Given the description of an element on the screen output the (x, y) to click on. 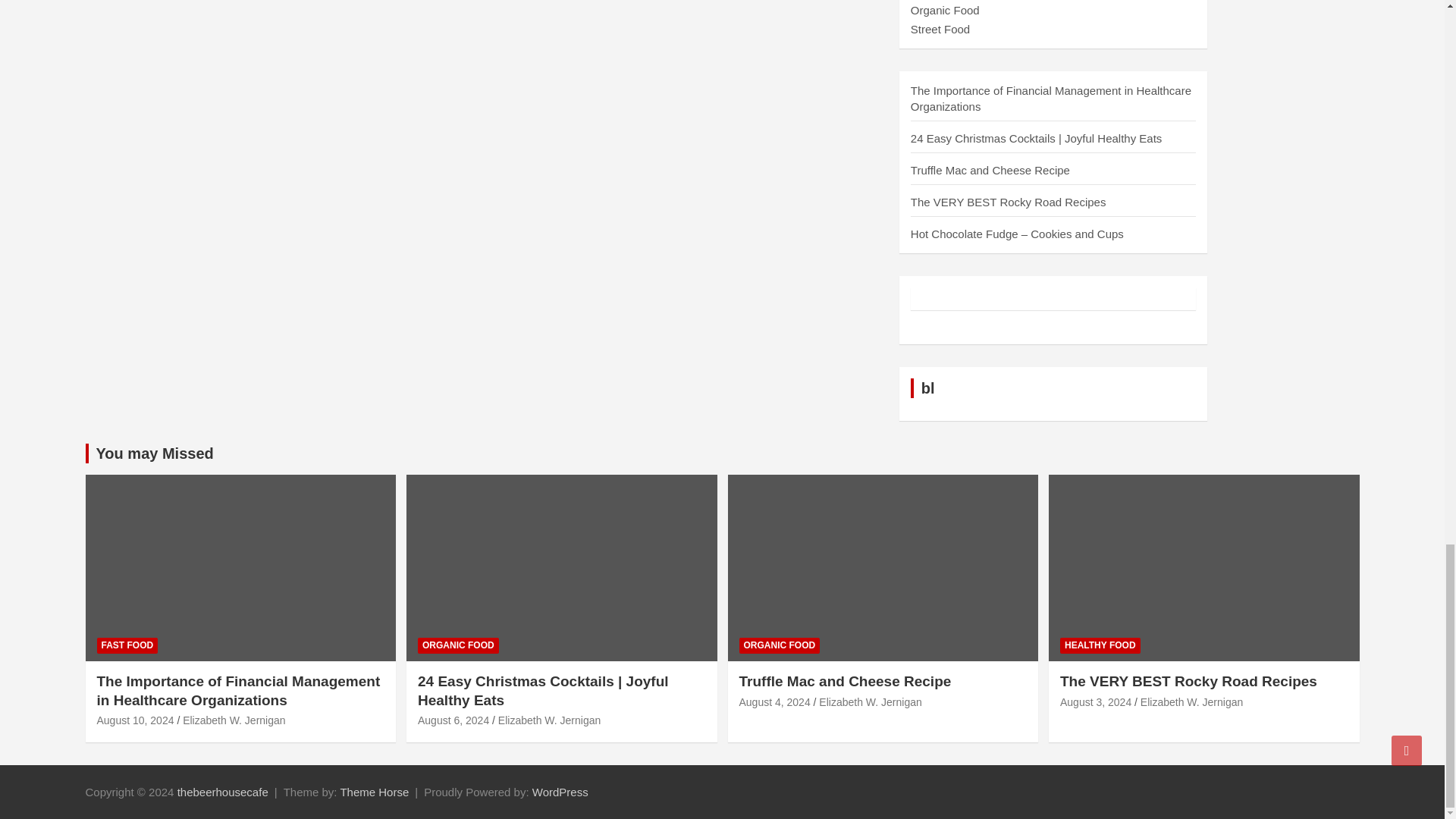
Theme Horse (374, 791)
The VERY BEST Rocky Road Recipes (1095, 702)
thebeerhousecafe (222, 791)
Truffle Mac and Cheese Recipe (773, 702)
